Given the description of an element on the screen output the (x, y) to click on. 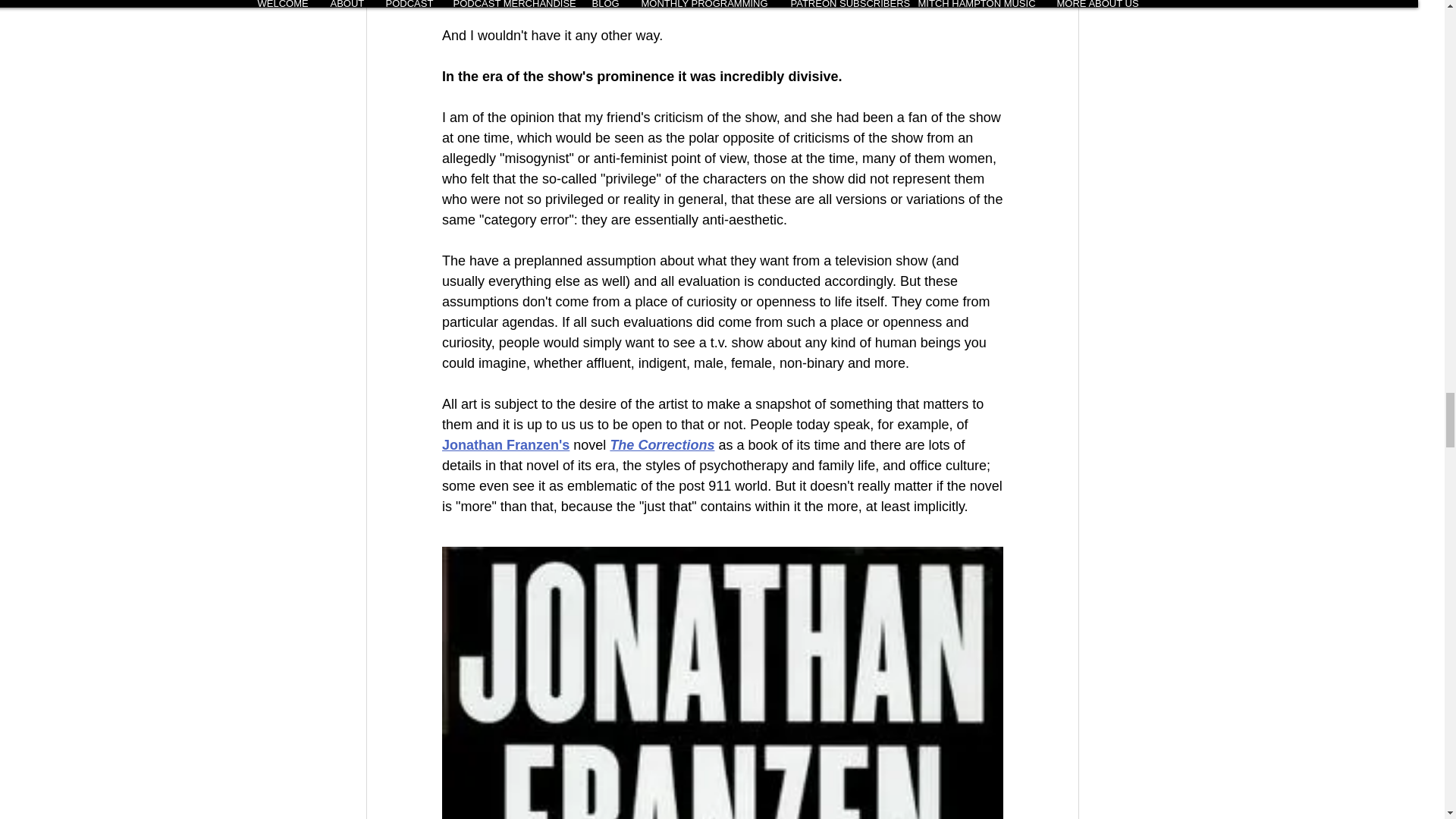
Jonathan Franzen's (505, 444)
The Corrections (662, 444)
